Given the description of an element on the screen output the (x, y) to click on. 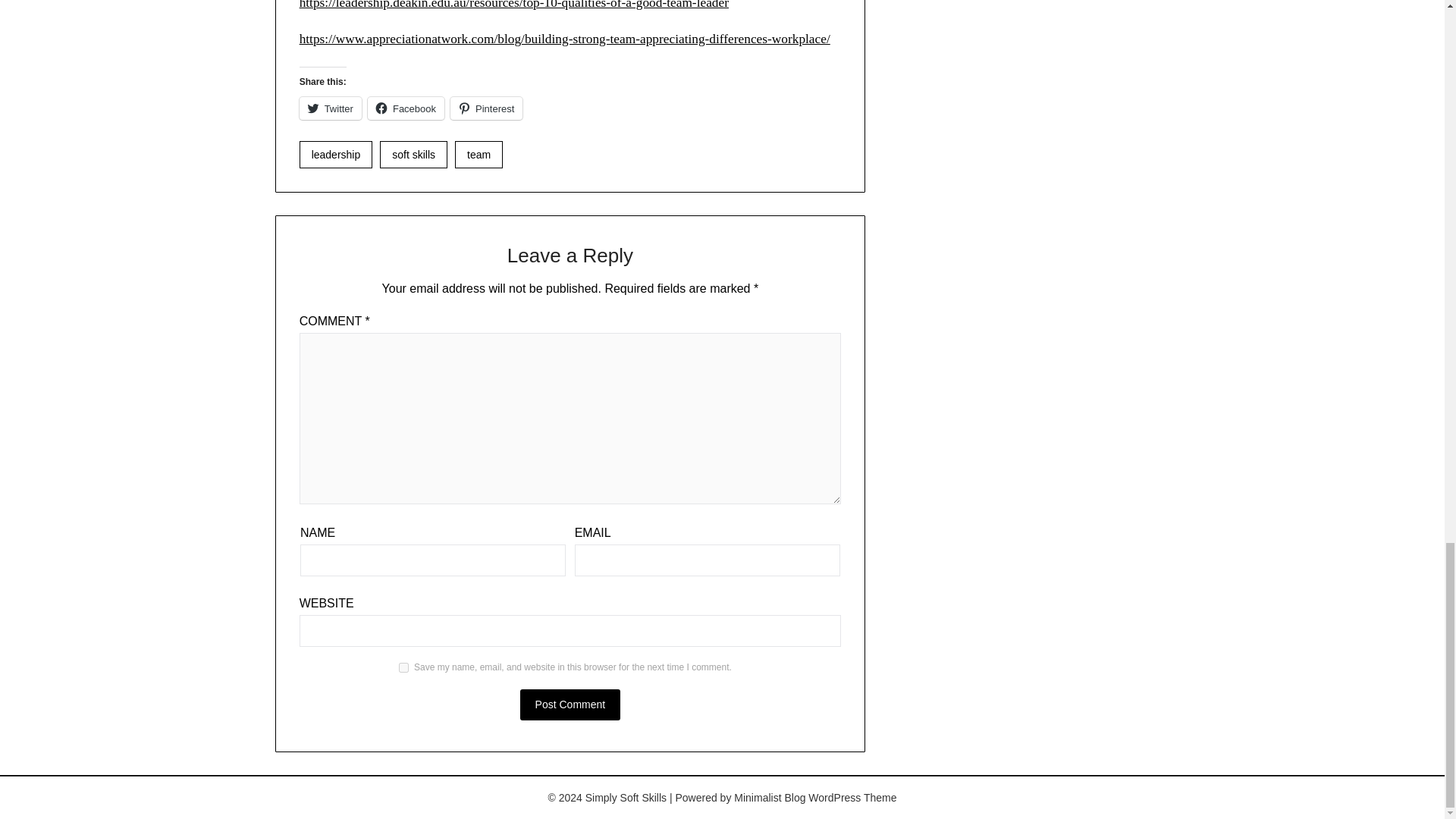
Facebook (406, 108)
team (478, 154)
soft skills (413, 154)
Click to share on Facebook (406, 108)
yes (403, 667)
Post Comment (570, 704)
leadership (335, 154)
Post Comment (570, 704)
Click to share on Pinterest (485, 108)
Pinterest (485, 108)
